Given the description of an element on the screen output the (x, y) to click on. 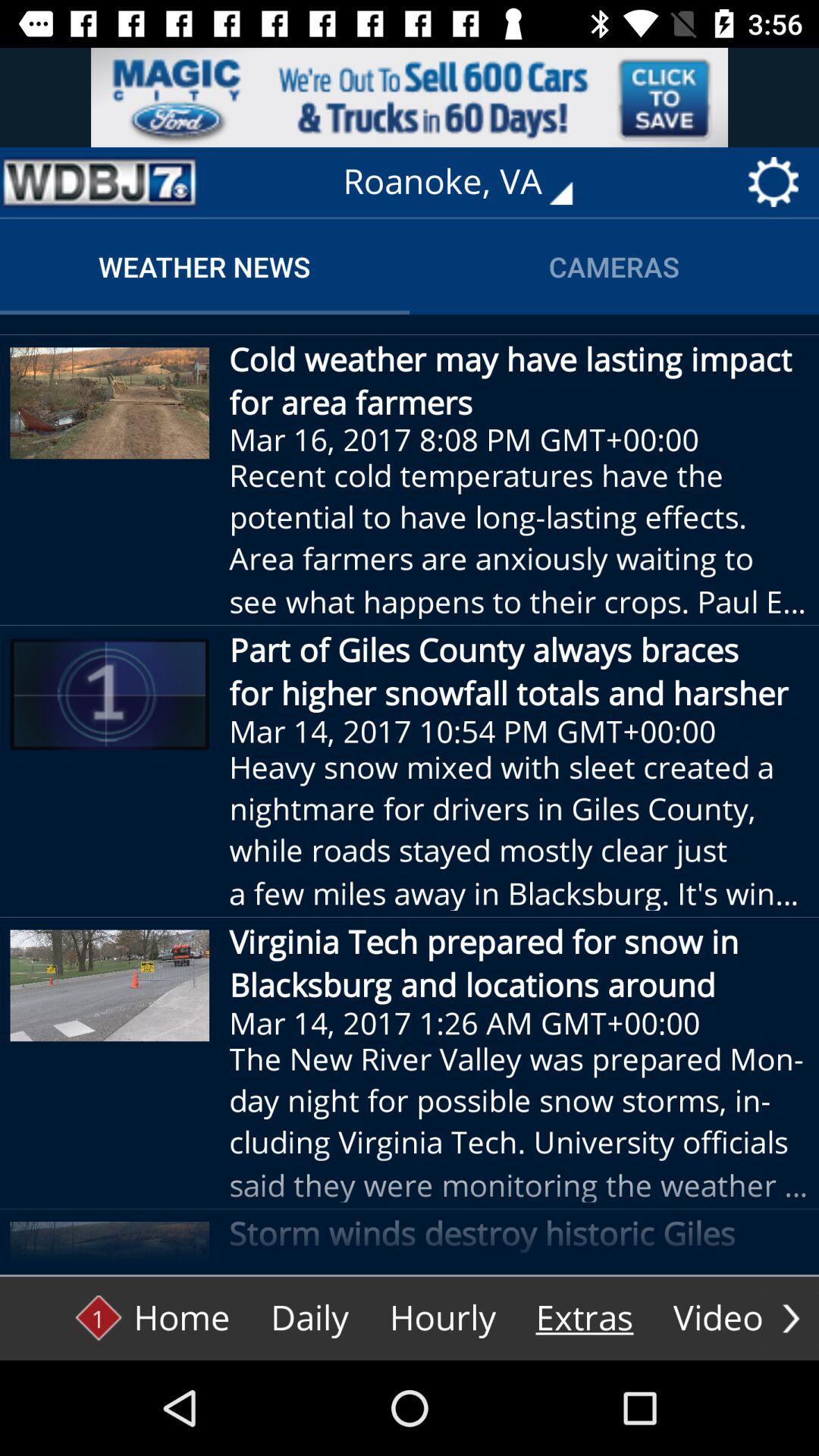
go to next page (791, 1318)
